Given the description of an element on the screen output the (x, y) to click on. 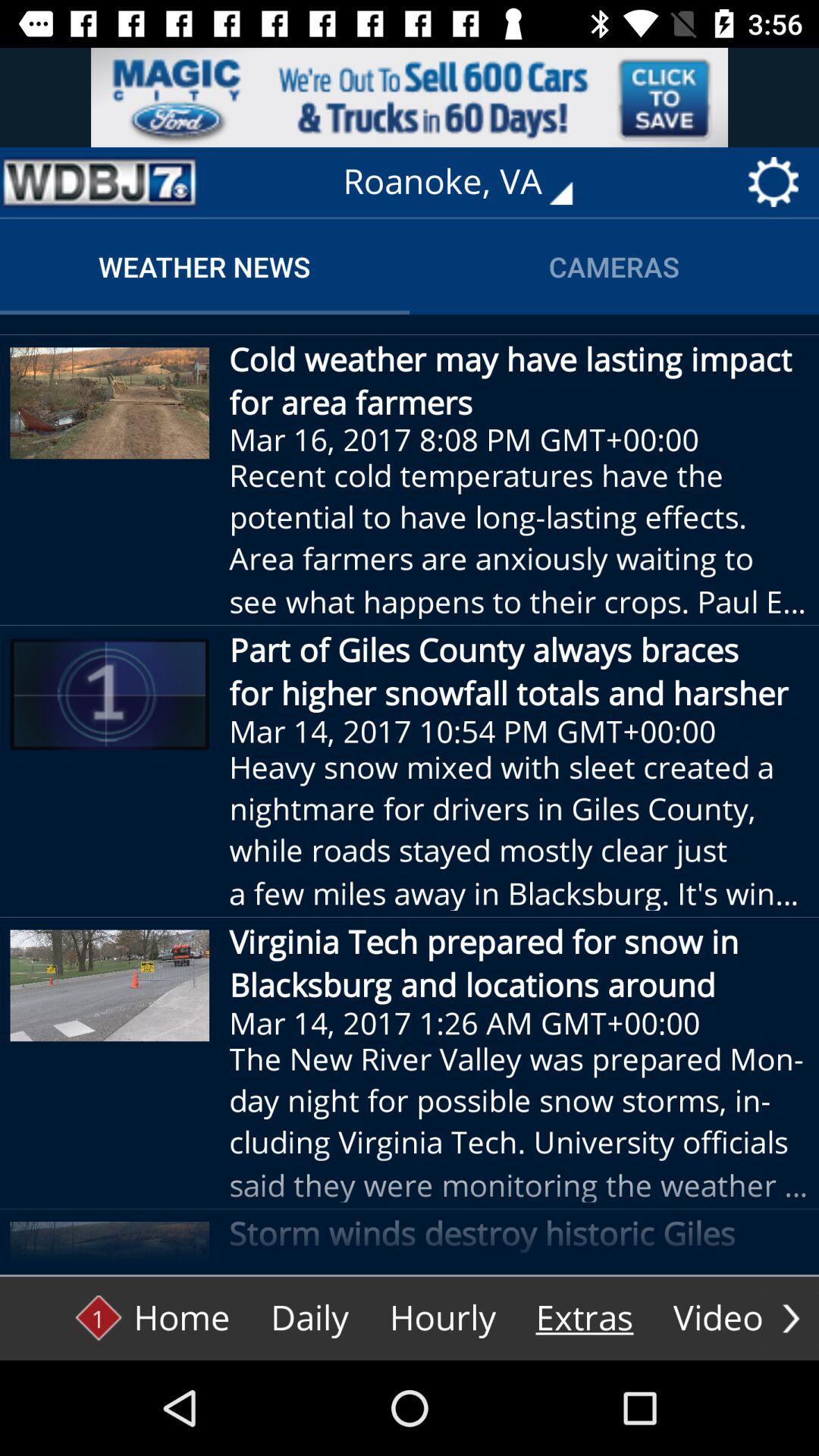
go to next page (791, 1318)
